Given the description of an element on the screen output the (x, y) to click on. 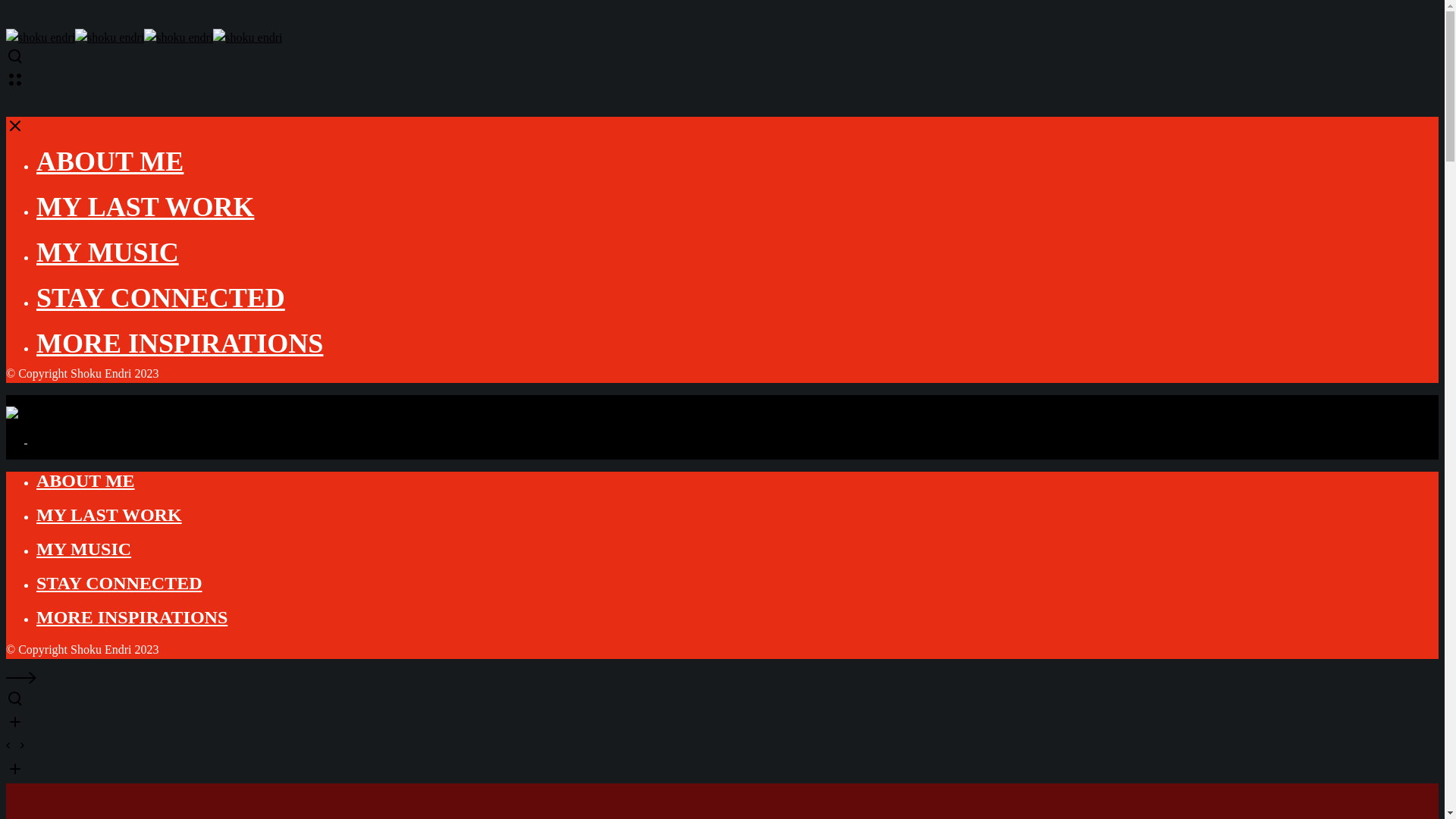
MORE INSPIRATIONS (131, 617)
STAY CONNECTED (160, 297)
Toggle offcanvas area (14, 83)
Close (14, 130)
MY LAST WORK (109, 514)
MY LAST WORK (144, 206)
ABOUT ME (109, 161)
STAY CONNECTED (119, 582)
MORE INSPIRATIONS (179, 343)
MY MUSIC (107, 252)
MY MUSIC (83, 548)
Toggle search modal (14, 60)
ABOUT ME (85, 480)
